Given the description of an element on the screen output the (x, y) to click on. 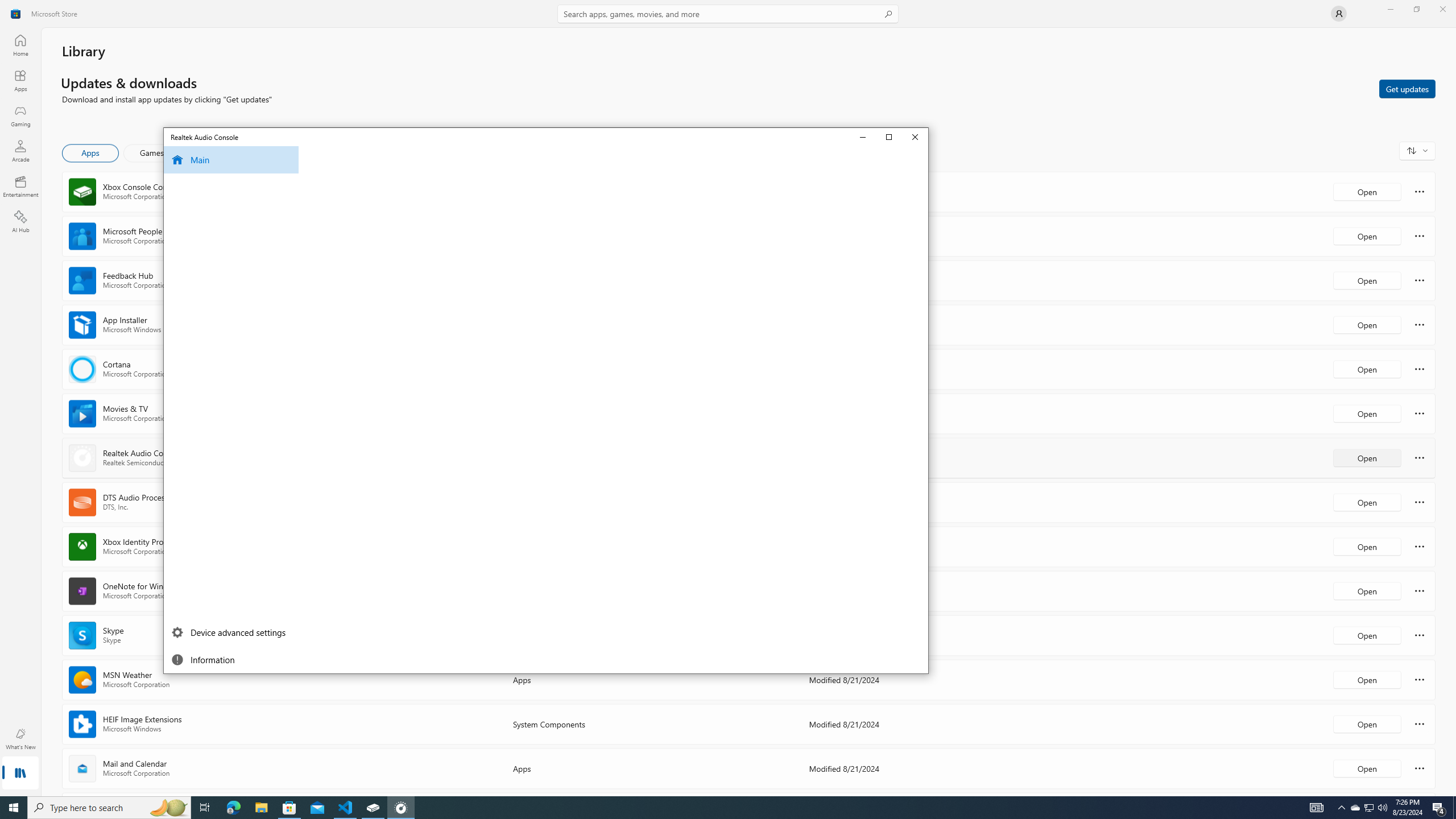
Start (13, 807)
User Promoted Notification Area (1368, 807)
Open (1366, 768)
File Explorer (261, 807)
Microsoft Store - 1 running window (289, 807)
Visual Studio Code - 1 running window (1368, 807)
Close Realtek Audio Console (345, 807)
Main (915, 136)
Sort and filter (230, 159)
